Given the description of an element on the screen output the (x, y) to click on. 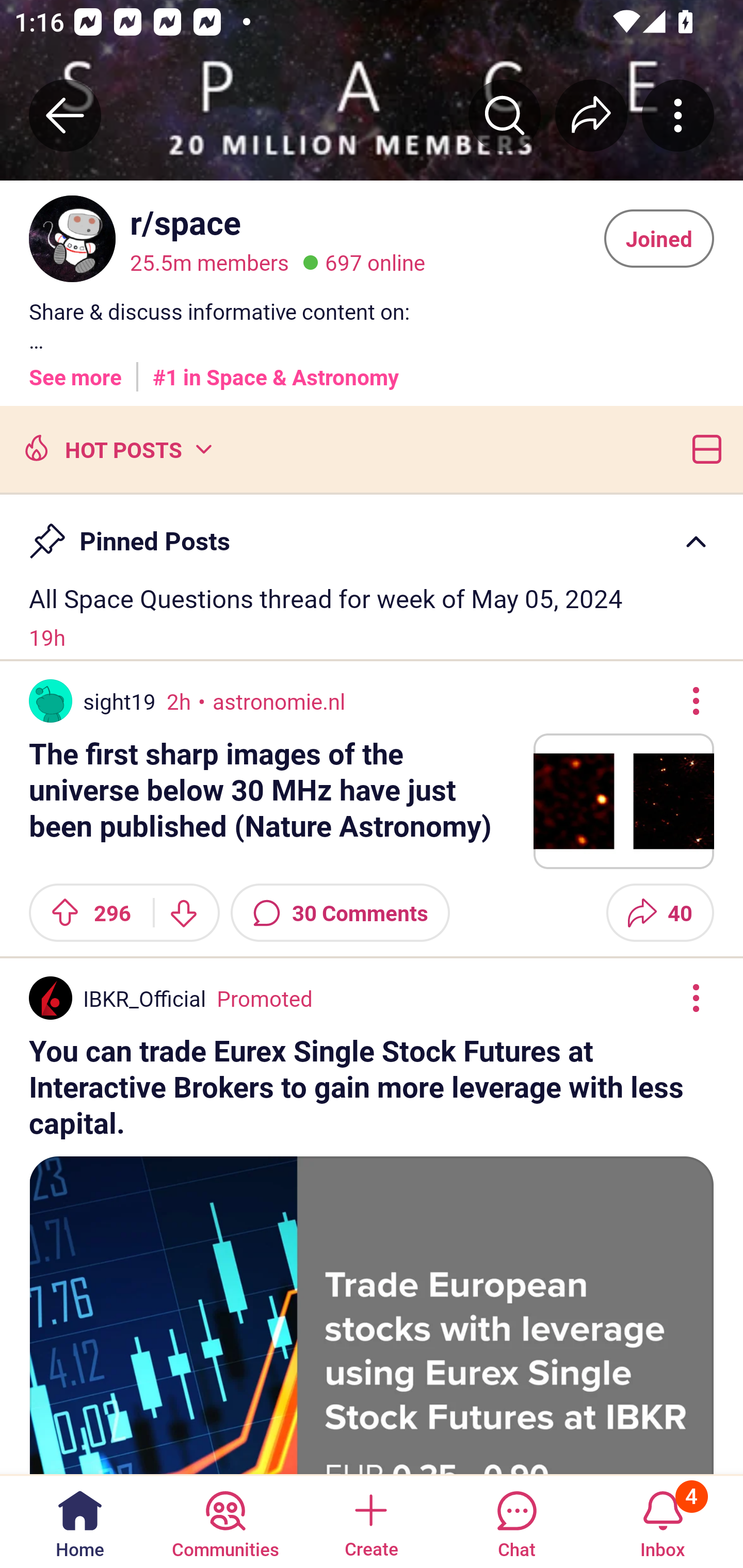
Back (64, 115)
Search r/﻿space (504, 115)
Share r/﻿space (591, 115)
More community actions (677, 115)
See more (74, 369)
#1 in Space & Astronomy (276, 369)
Hot posts HOT POSTS (116, 448)
Card (703, 448)
Pin Pinned Posts Caret (371, 531)
Home (80, 1520)
Communities (225, 1520)
Create a post Create (370, 1520)
Chat (516, 1520)
Inbox, has 4 notifications 4 Inbox (662, 1520)
